Given the description of an element on the screen output the (x, y) to click on. 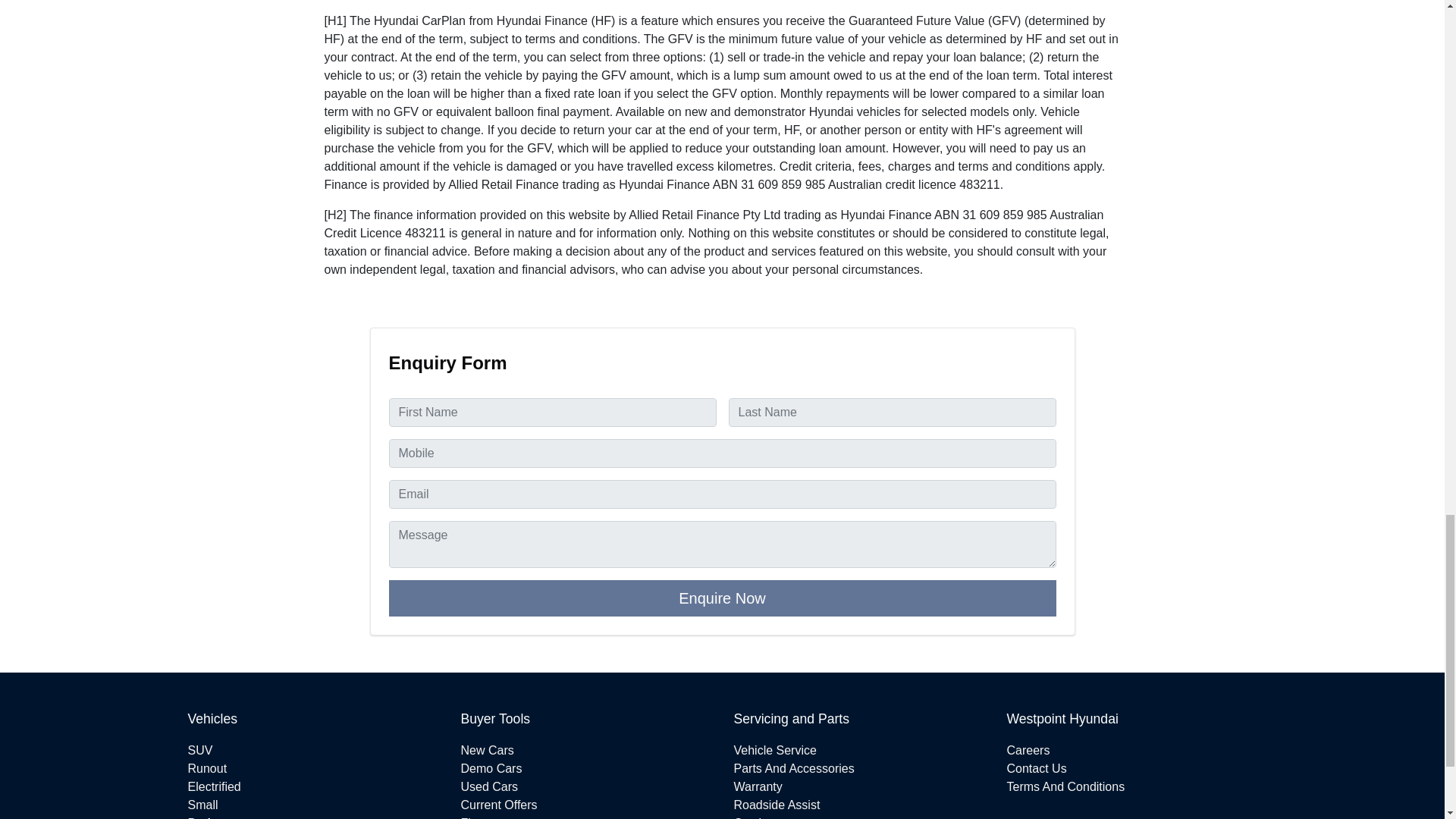
Runout (207, 768)
Demo Cars (491, 768)
SUV (199, 749)
Electrified (214, 786)
Performance (222, 817)
Finance (482, 817)
Enquire Now (721, 597)
Current Offers (499, 804)
Small (202, 804)
New Cars (487, 749)
